Given the description of an element on the screen output the (x, y) to click on. 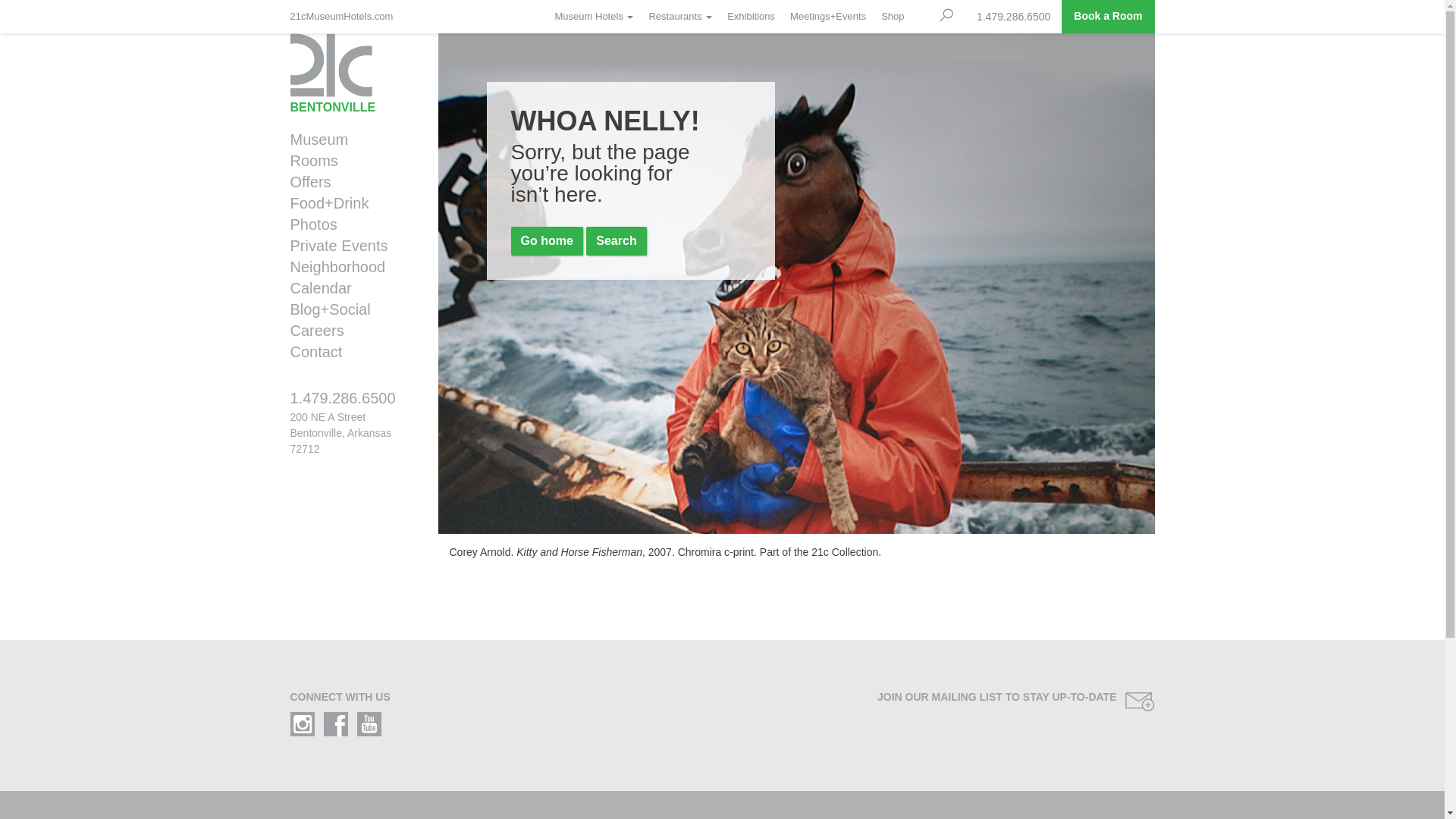
Food+Drink Element type: text (347, 202)
Search Element type: text (616, 240)
Restaurants Element type: text (679, 16)
JOIN OUR MAILING LIST TO STAY UP-TO-DATE Element type: text (944, 701)
200 NE A Street
Bentonville, Arkansas 72712 Element type: text (340, 433)
Neighborhood Element type: text (347, 266)
Rooms Element type: text (347, 160)
Careers Element type: text (347, 330)
Book a Room Element type: text (1107, 16)
Go home Element type: text (547, 240)
21cMuseumHotels.com Element type: text (344, 16)
Shop Element type: text (892, 16)
Calendar Element type: text (347, 287)
1.479.286.6500 Element type: text (351, 404)
Museum Element type: text (347, 139)
1.479.286.6500 Element type: text (1013, 16)
Meetings+Events Element type: text (827, 16)
Exhibitions Element type: text (750, 16)
BENTONVILLE Element type: text (351, 73)
Private Events Element type: text (347, 245)
Offers Element type: text (347, 181)
Blog+Social Element type: text (347, 309)
Museum Hotels Element type: text (594, 16)
Contact Element type: text (347, 351)
Photos Element type: text (347, 224)
